Given the description of an element on the screen output the (x, y) to click on. 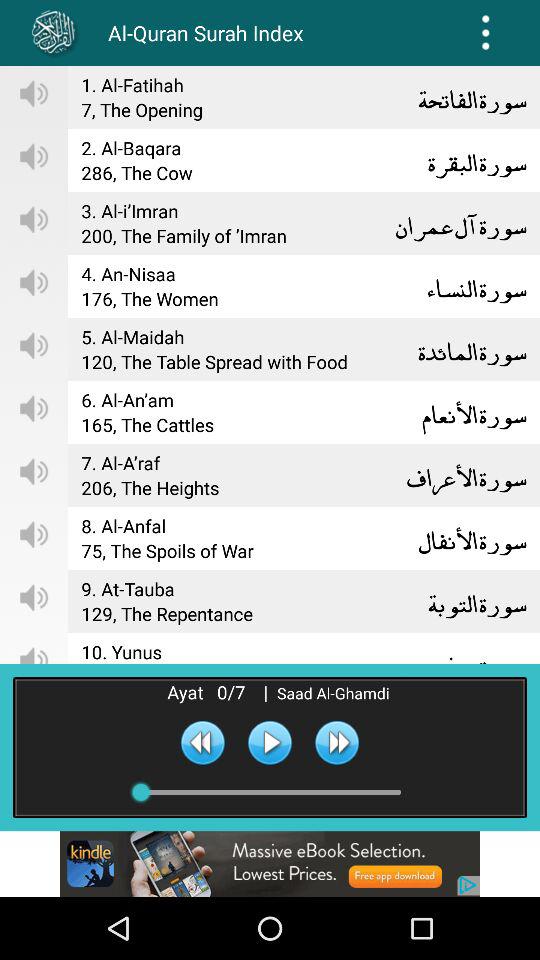
click to play option (269, 742)
